Given the description of an element on the screen output the (x, y) to click on. 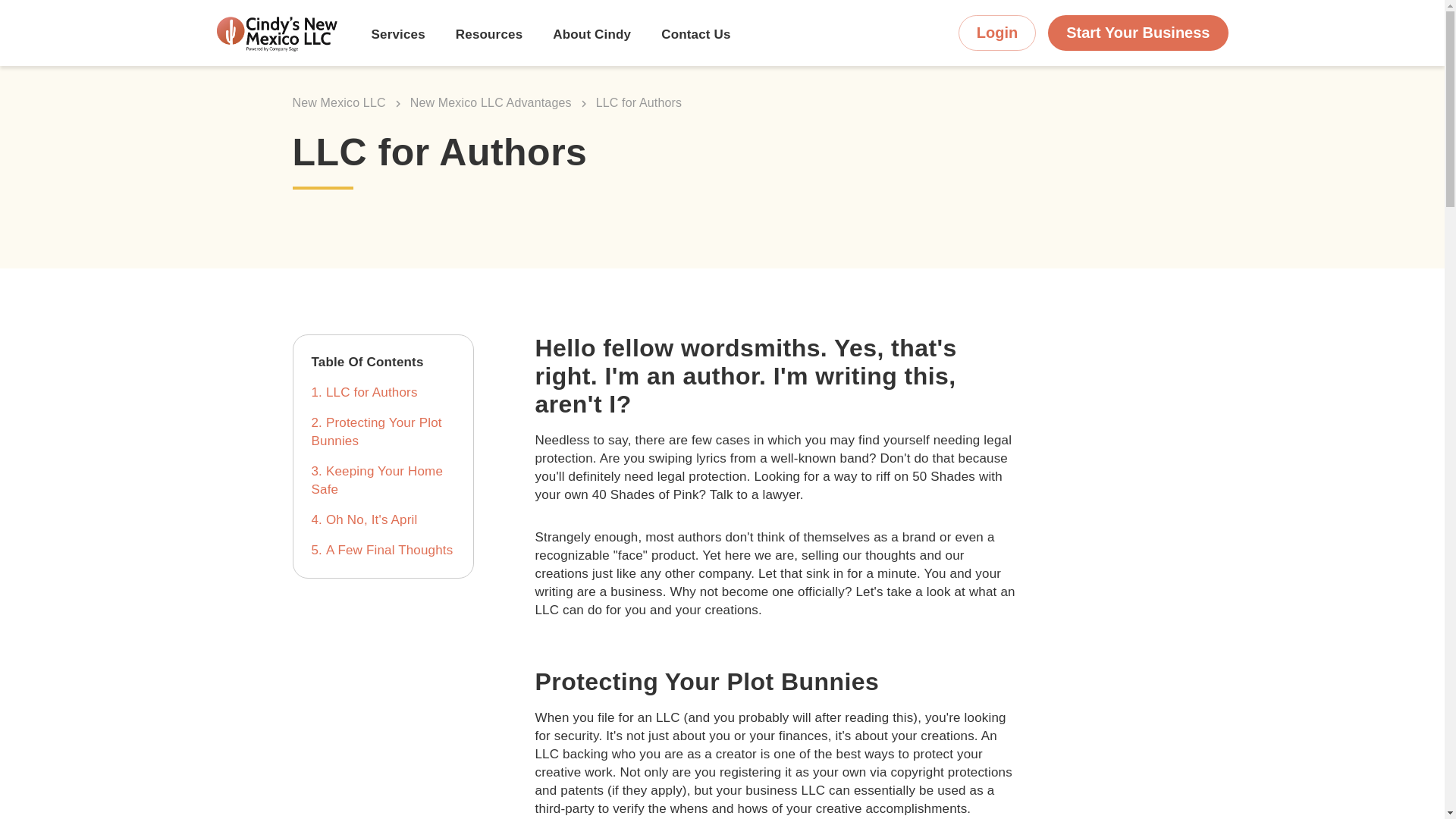
New Mexico LLC Advantages (491, 102)
Oh No, It's April (371, 519)
Protecting Your Plot Bunnies (376, 431)
A Few Final Thoughts (389, 549)
LLC for Authors (371, 391)
Start Your Business (1137, 32)
Login (996, 32)
New Mexico LLC (338, 102)
Keeping Your Home Safe (376, 480)
About Cindy (591, 36)
Contact Us (695, 36)
